Given the description of an element on the screen output the (x, y) to click on. 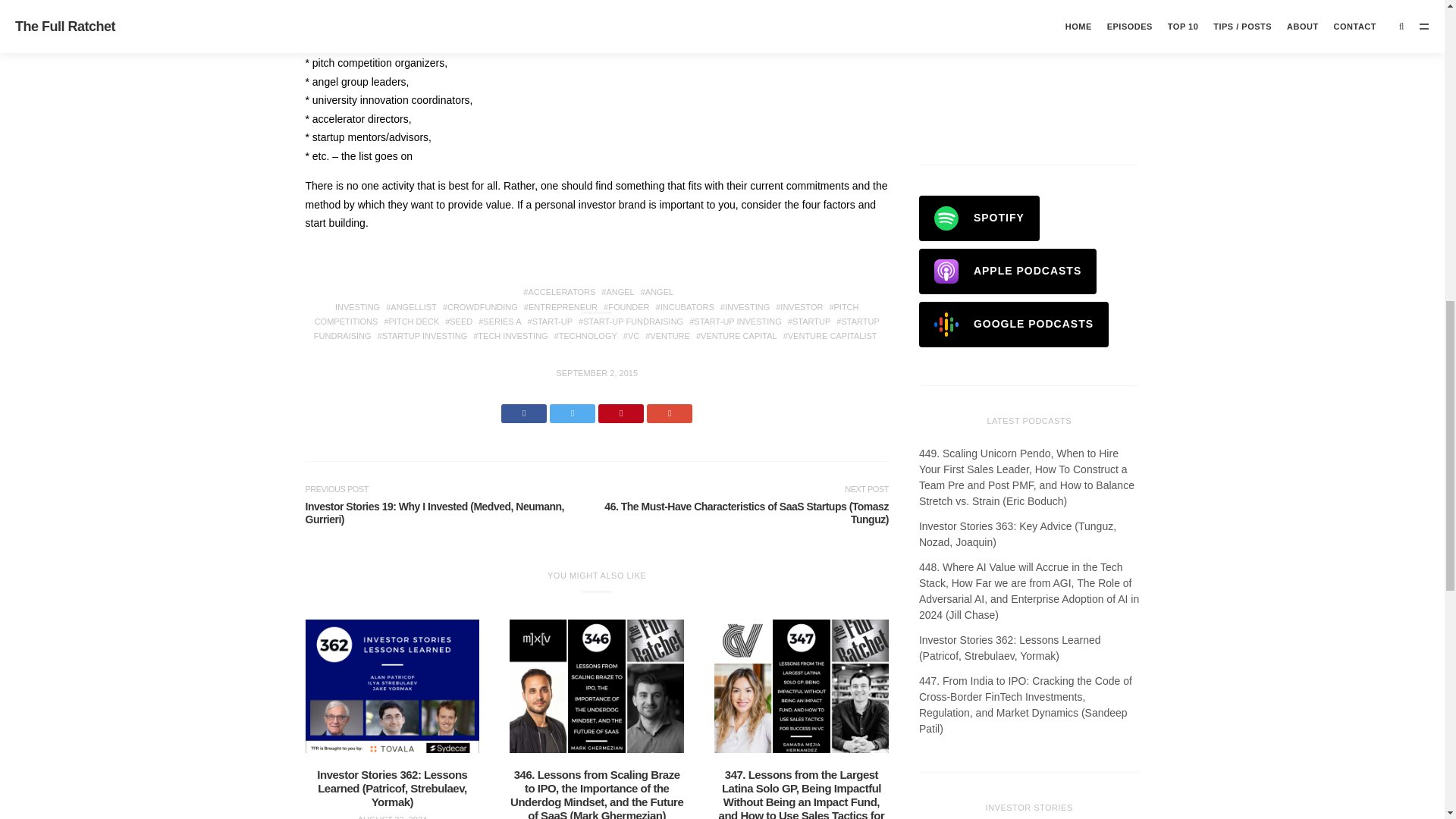
PITCH COMPETITIONS (586, 313)
STARTUP FUNDRAISING (596, 328)
PITCH DECK (411, 320)
ACCELERATORS (558, 291)
INVESTOR (799, 307)
ENTREPRENEUR (560, 307)
START-UP INVESTING (734, 320)
SERIES A (500, 320)
START-UP (550, 320)
FOUNDER (625, 307)
